Given the description of an element on the screen output the (x, y) to click on. 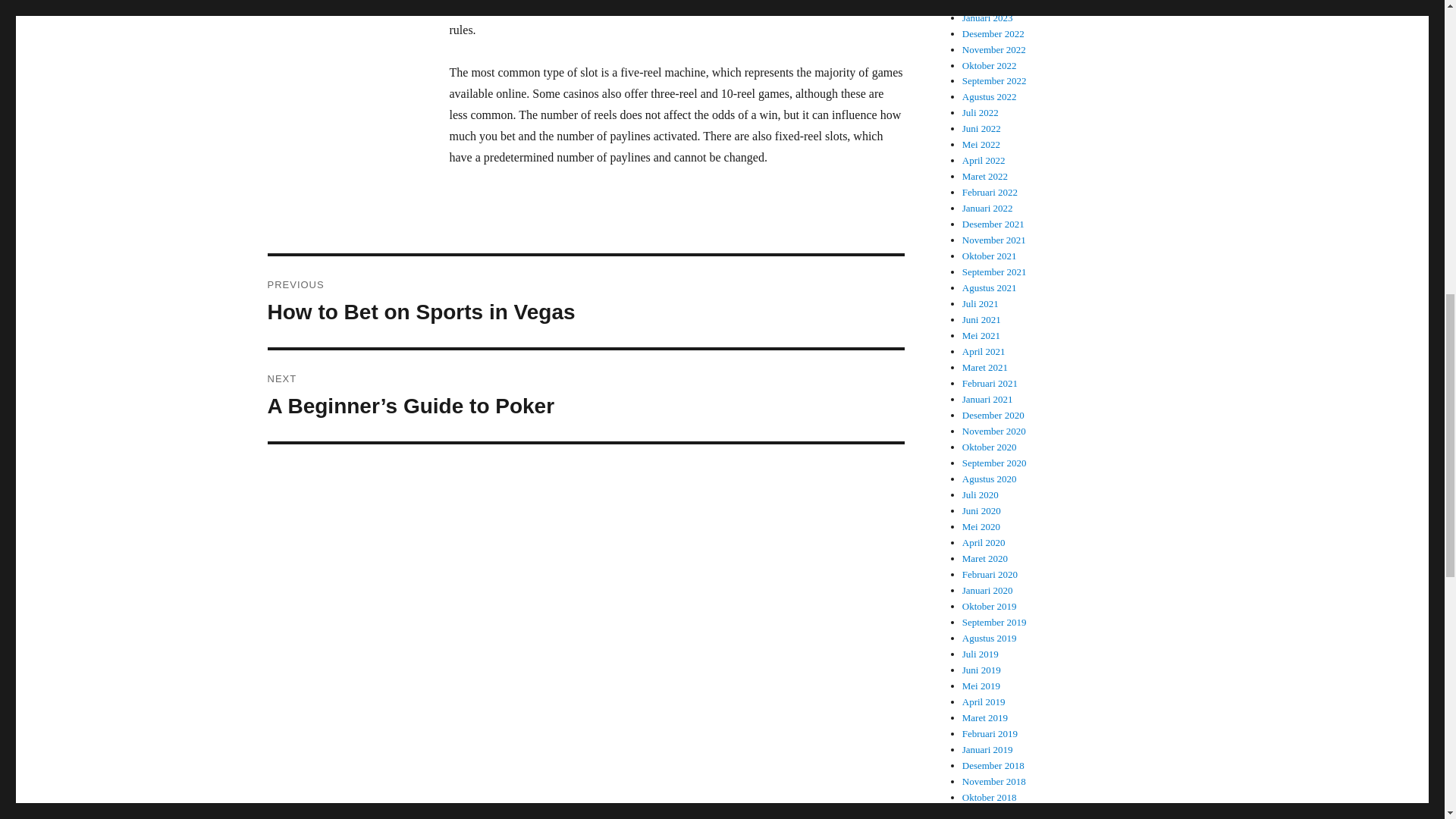
Desember 2022 (585, 301)
November 2022 (993, 33)
Januari 2023 (994, 49)
Oktober 2022 (987, 17)
September 2022 (989, 64)
Februari 2023 (994, 80)
